Given the description of an element on the screen output the (x, y) to click on. 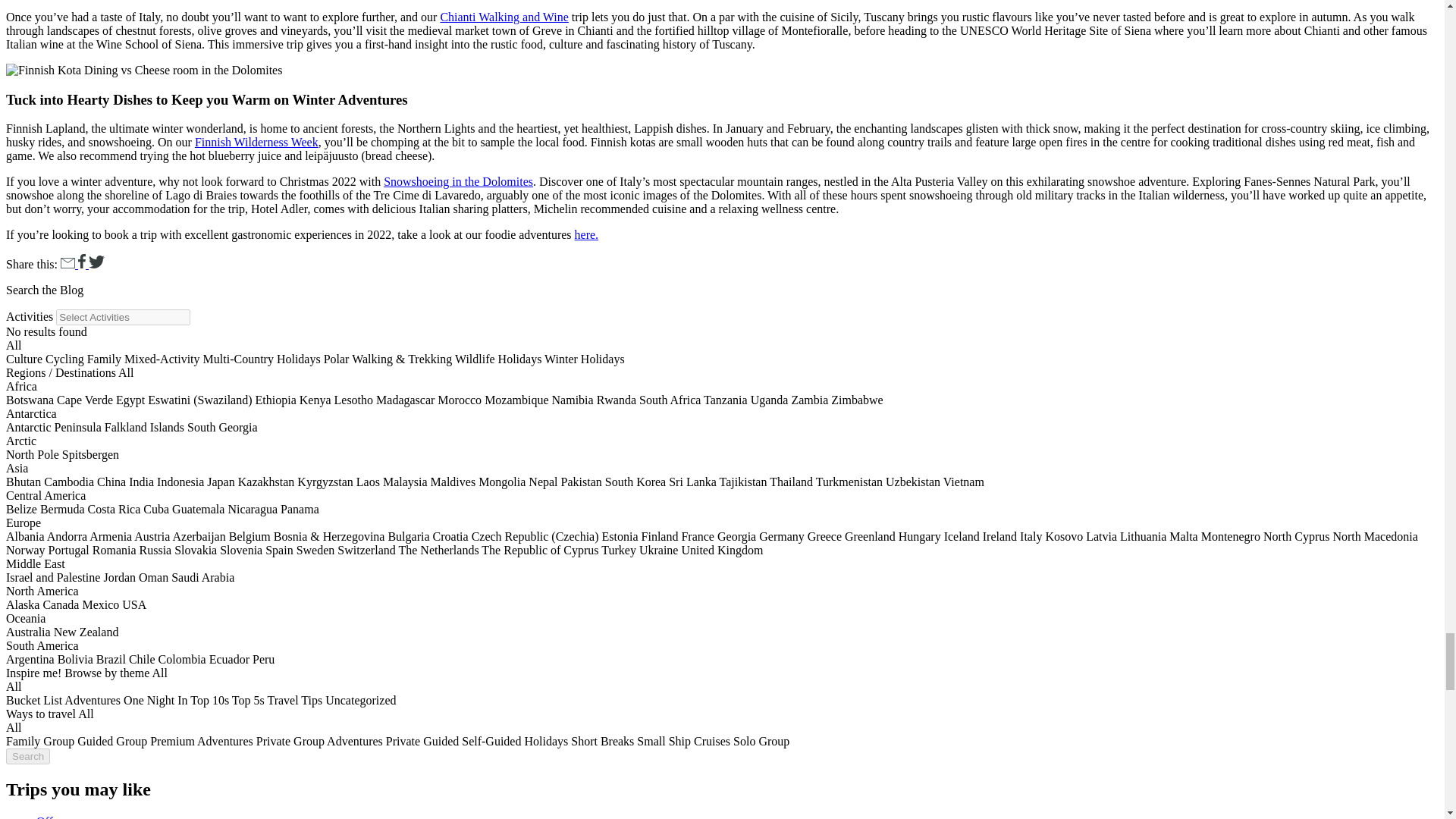
Share by Email (69, 264)
Share by Twitter (96, 264)
